Given the description of an element on the screen output the (x, y) to click on. 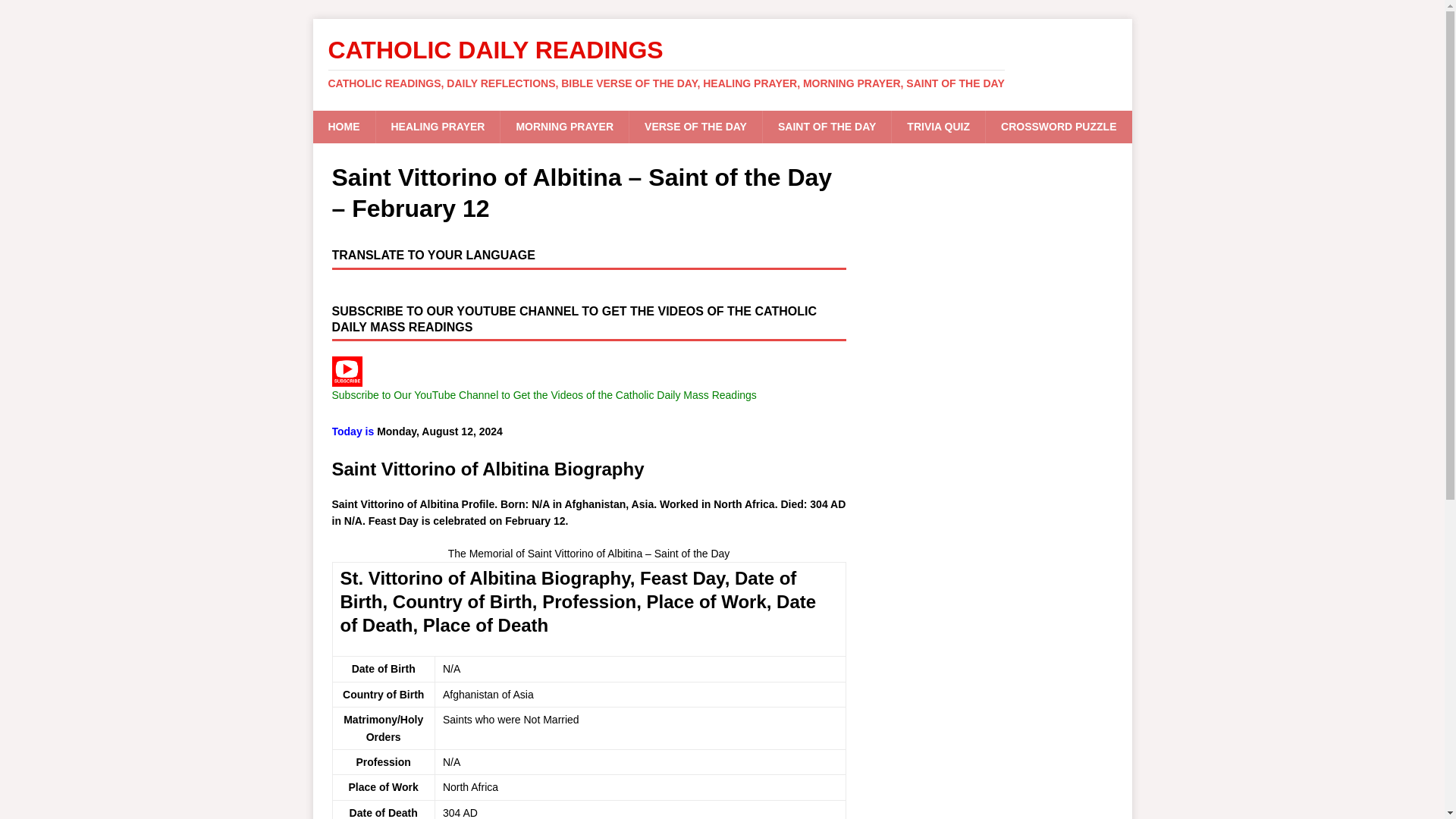
Catholic Daily Readings (721, 63)
TRIVIA QUIZ (938, 126)
CROSSWORD PUZZLE (1058, 126)
HEALING PRAYER (436, 126)
HOME (343, 126)
SAINT OF THE DAY (826, 126)
VERSE OF THE DAY (694, 126)
MORNING PRAYER (563, 126)
